Given the description of an element on the screen output the (x, y) to click on. 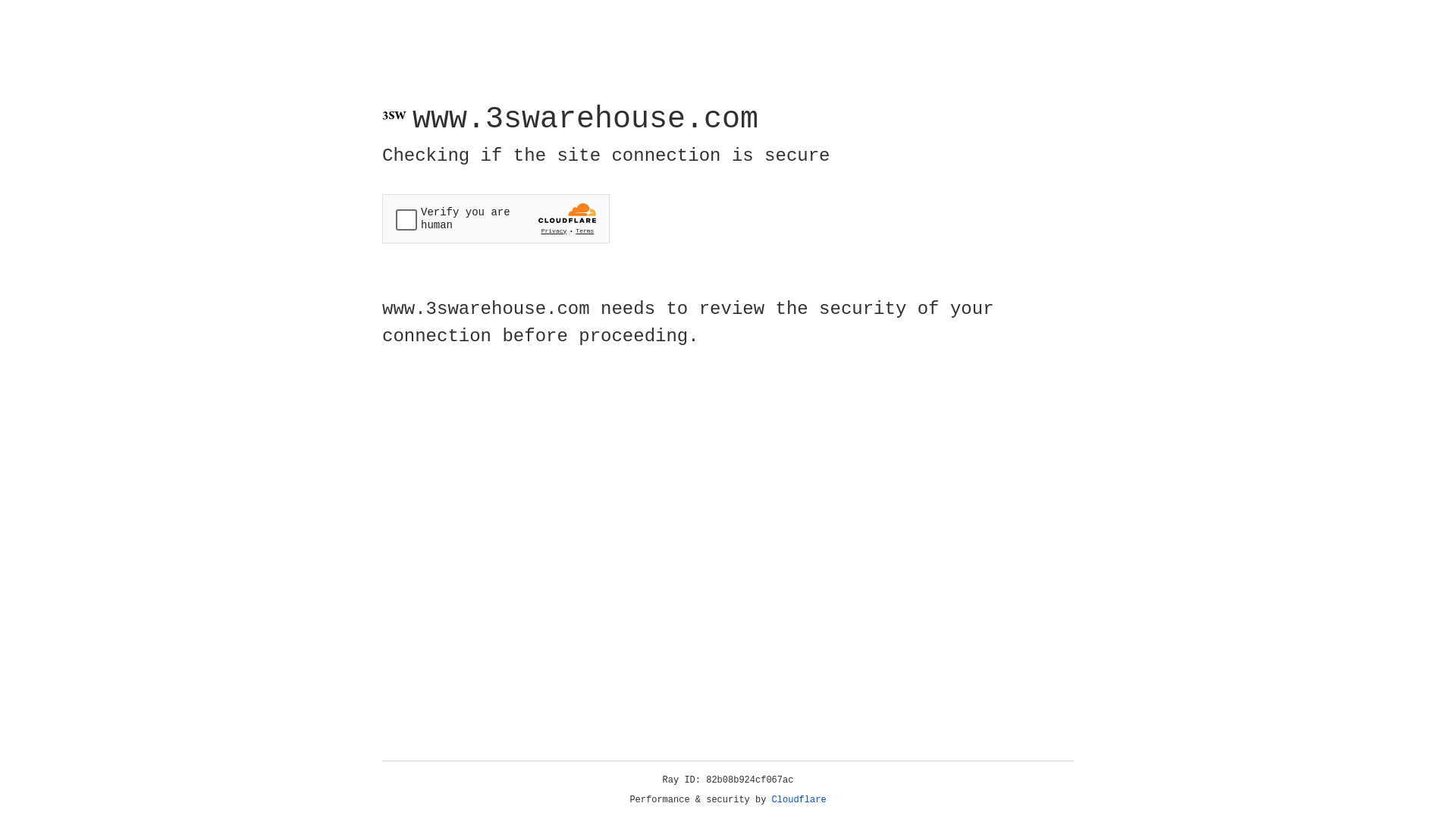
Cloudflare Element type: text (798, 799)
Widget containing a Cloudflare security challenge Element type: hover (495, 218)
